Given the description of an element on the screen output the (x, y) to click on. 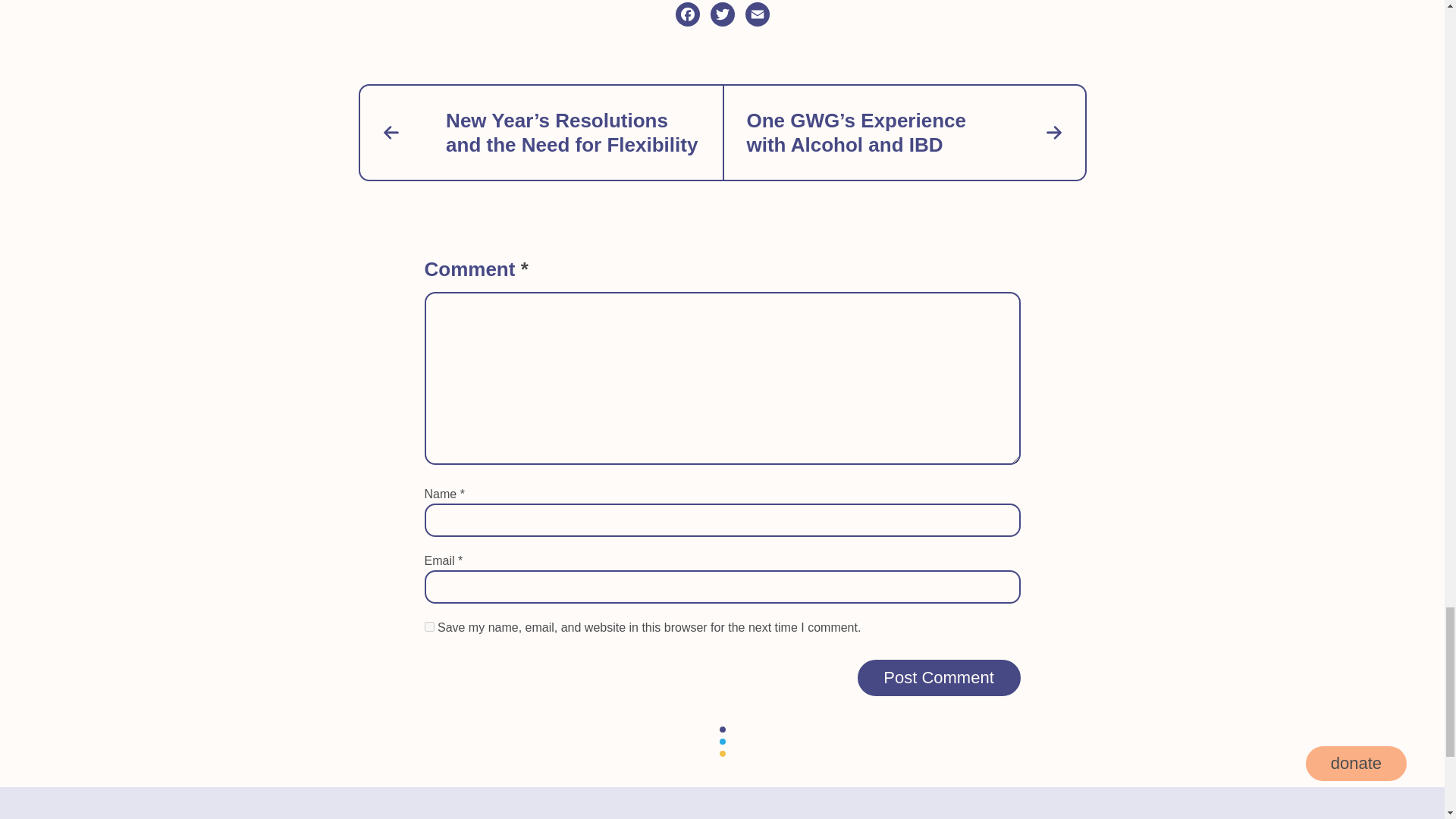
yes (429, 626)
Post Comment (938, 678)
